Given the description of an element on the screen output the (x, y) to click on. 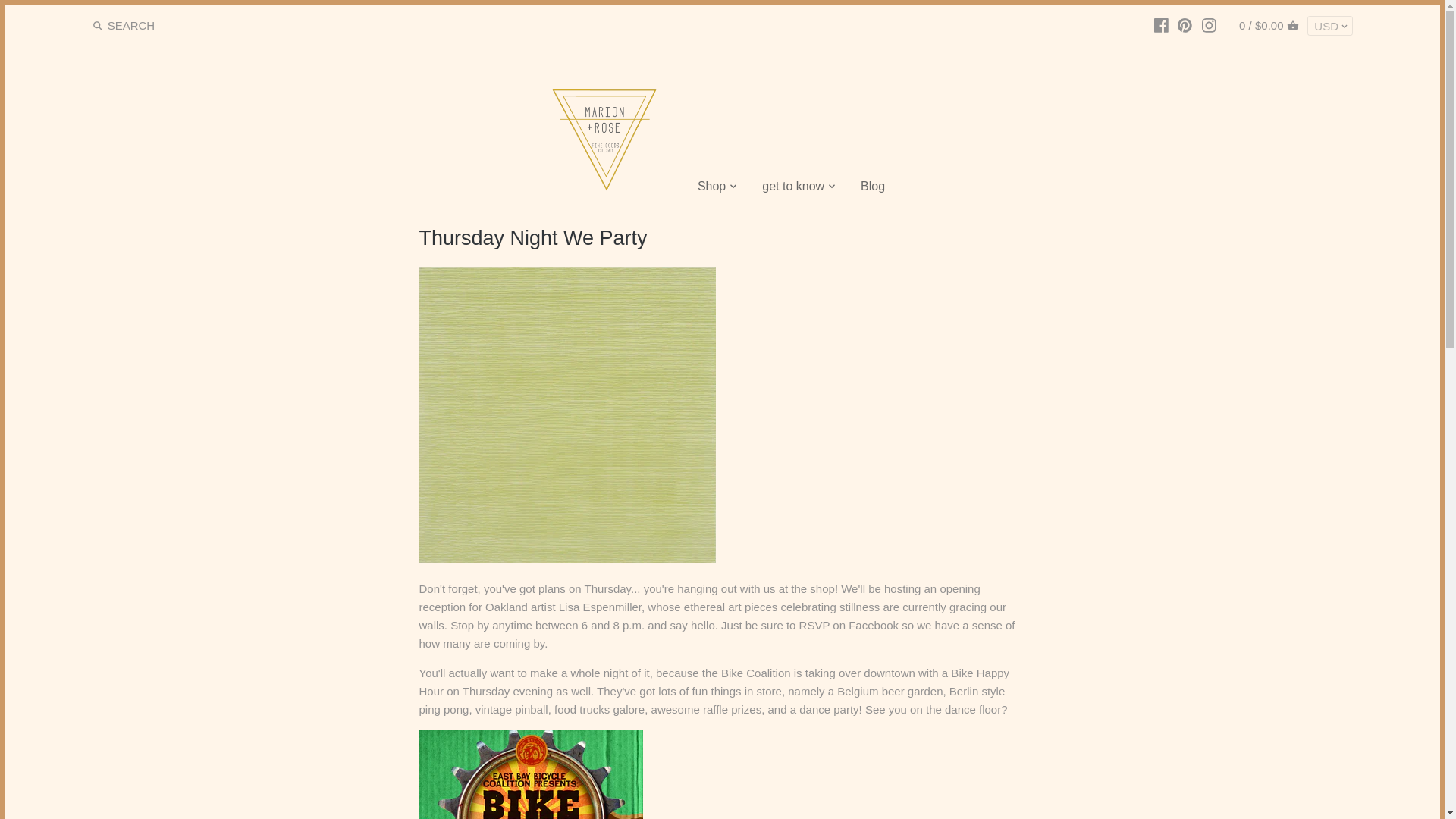
FACEBOOK (1160, 25)
INSTAGRAM (1208, 25)
CART (1292, 25)
get to know (792, 188)
Blog (872, 188)
PINTEREST (1184, 25)
Shop (711, 188)
Search (97, 25)
